Given the description of an element on the screen output the (x, y) to click on. 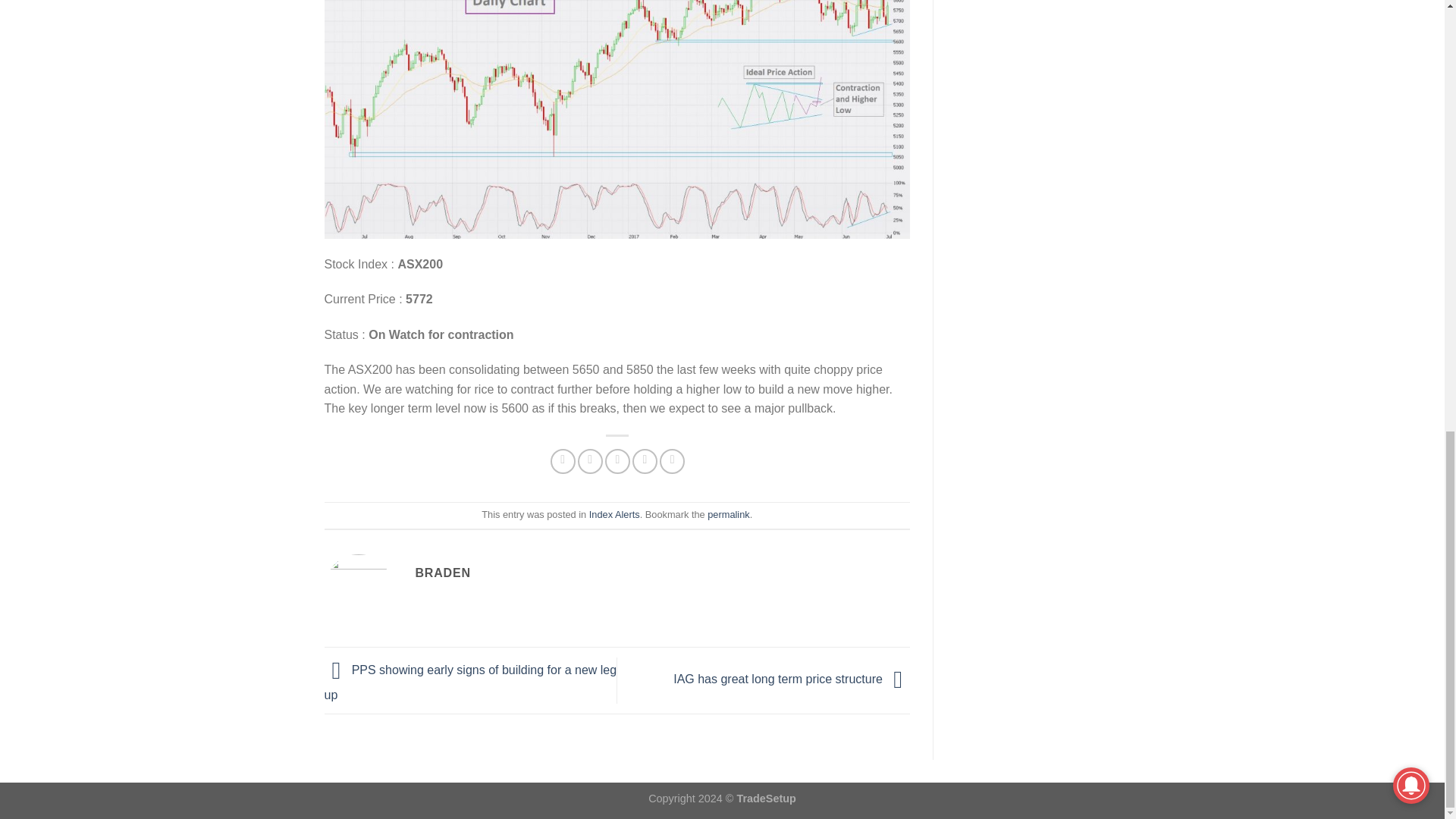
IAG has great long term price structure (791, 679)
PPS showing early signs of building for a new leg up (470, 682)
Index Alerts (614, 514)
permalink (728, 514)
